Given the description of an element on the screen output the (x, y) to click on. 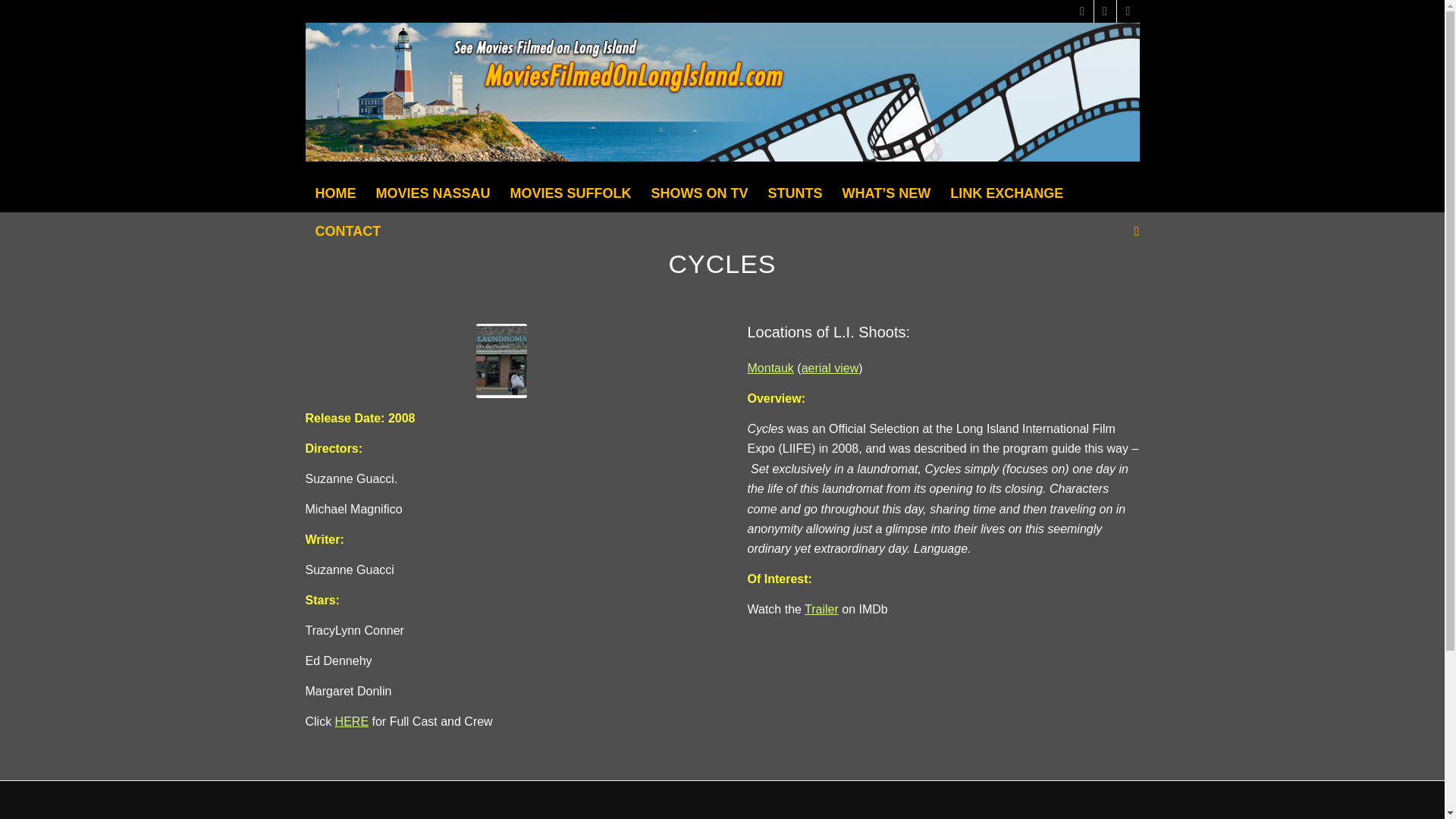
Twitter (1081, 11)
STUNTS (795, 193)
SHOWS ON TV (700, 193)
HOME (334, 193)
LINK EXCHANGE (1006, 193)
MOVIES SUFFOLK (571, 193)
aerial view (830, 367)
Trailer (821, 608)
MOVIES NASSAU (432, 193)
HERE (351, 721)
Facebook (1104, 11)
Instagram (1127, 11)
Montauk (770, 367)
CONTACT (347, 231)
